Given the description of an element on the screen output the (x, y) to click on. 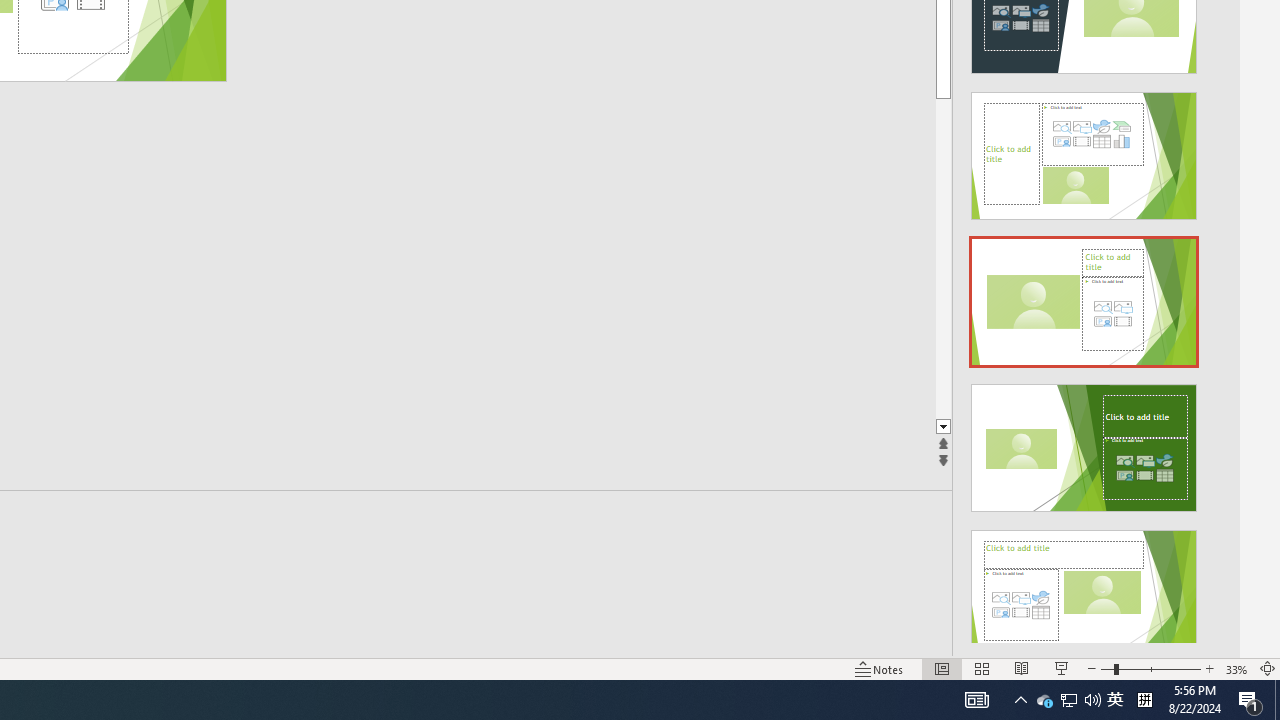
Zoom 33% (1236, 668)
